Given the description of an element on the screen output the (x, y) to click on. 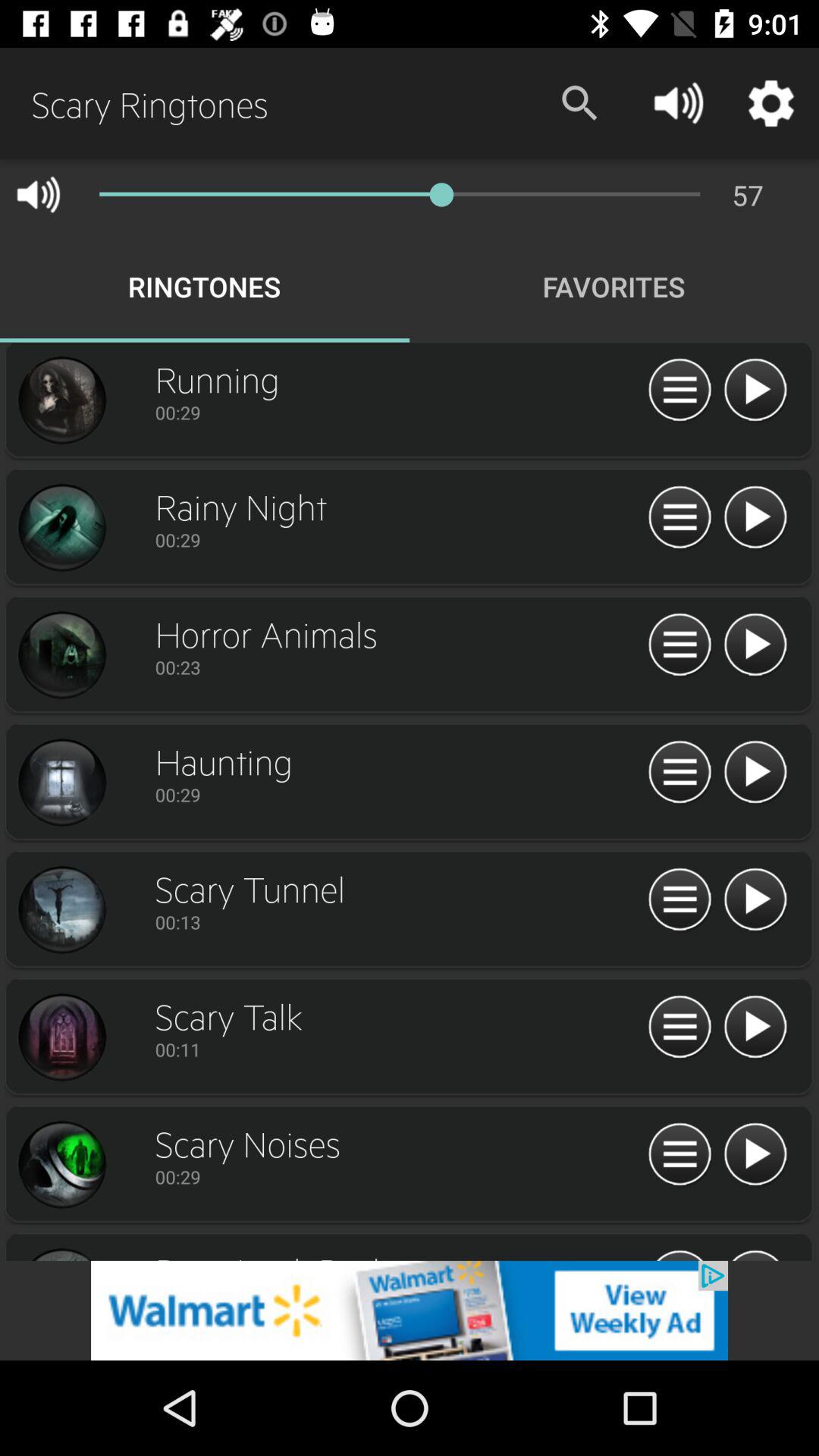
open walmart advertisement (409, 1310)
